Given the description of an element on the screen output the (x, y) to click on. 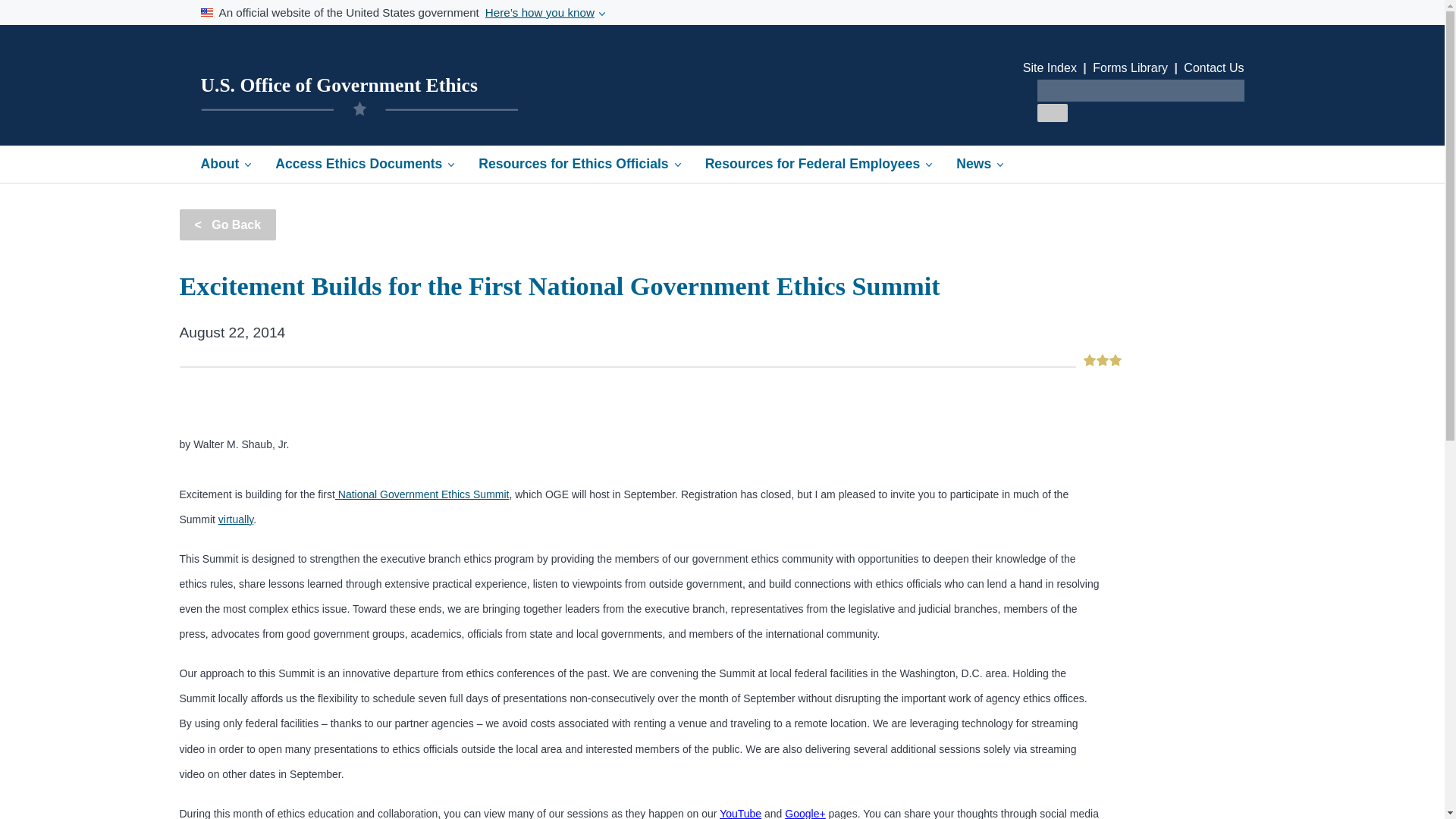
U.S. Office of Government Ethics (338, 85)
Back button (227, 224)
Access Ethics Documents (364, 163)
Resources for Federal Employees (818, 163)
YouTube (740, 813)
virtually (235, 519)
Home (338, 85)
Forms Library (1130, 67)
About (225, 163)
News (978, 163)
